Given the description of an element on the screen output the (x, y) to click on. 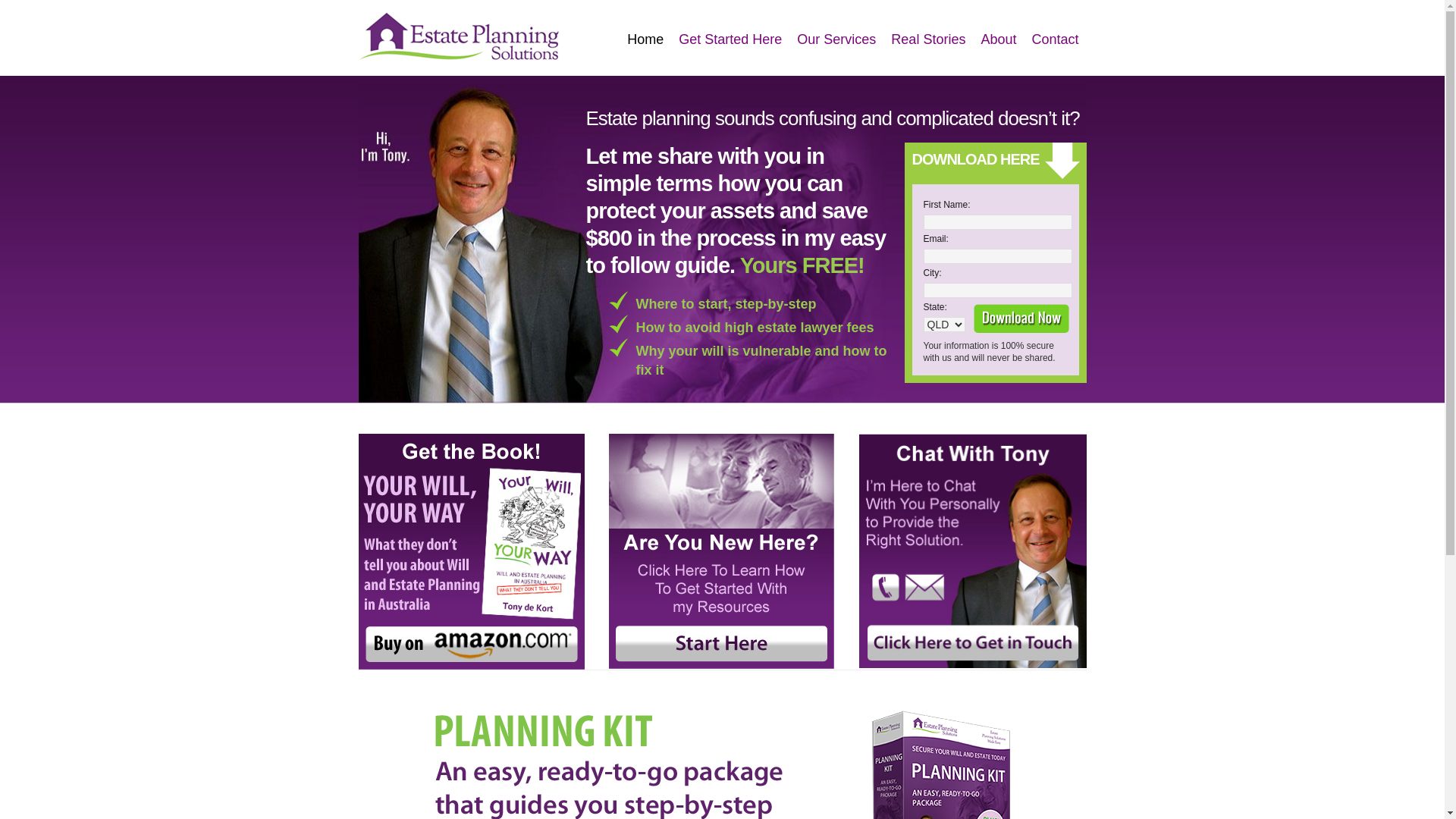
Contact Element type: text (1054, 39)
Real Stories Element type: text (927, 39)
Our Services Element type: text (836, 39)
estateplanningsolutions.com.au Element type: text (463, 37)
Home Element type: text (645, 39)
Submit Element type: text (1020, 318)
About Element type: text (997, 39)
Get Started Here Element type: text (730, 39)
